Given the description of an element on the screen output the (x, y) to click on. 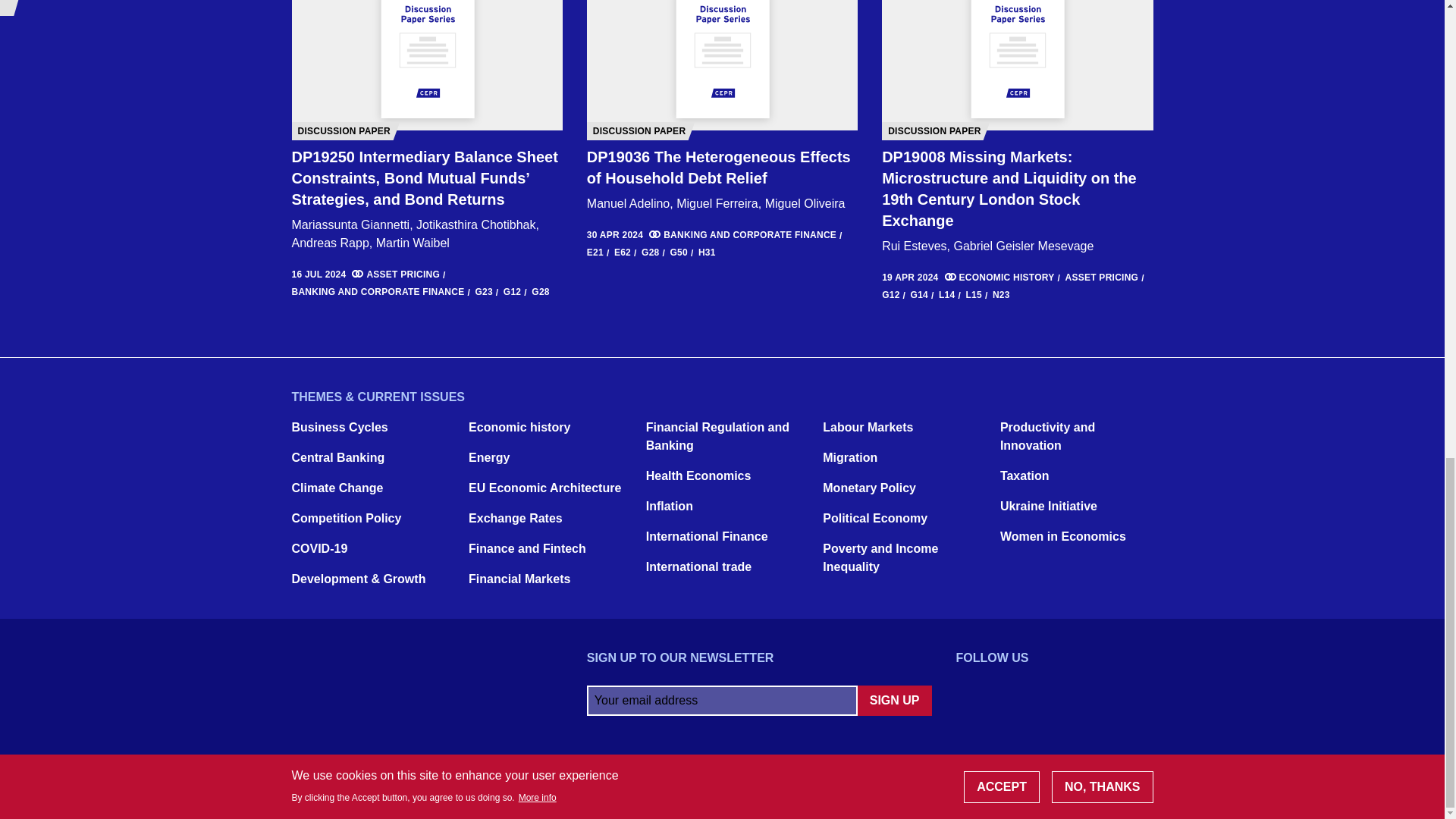
sign up (894, 700)
